Given the description of an element on the screen output the (x, y) to click on. 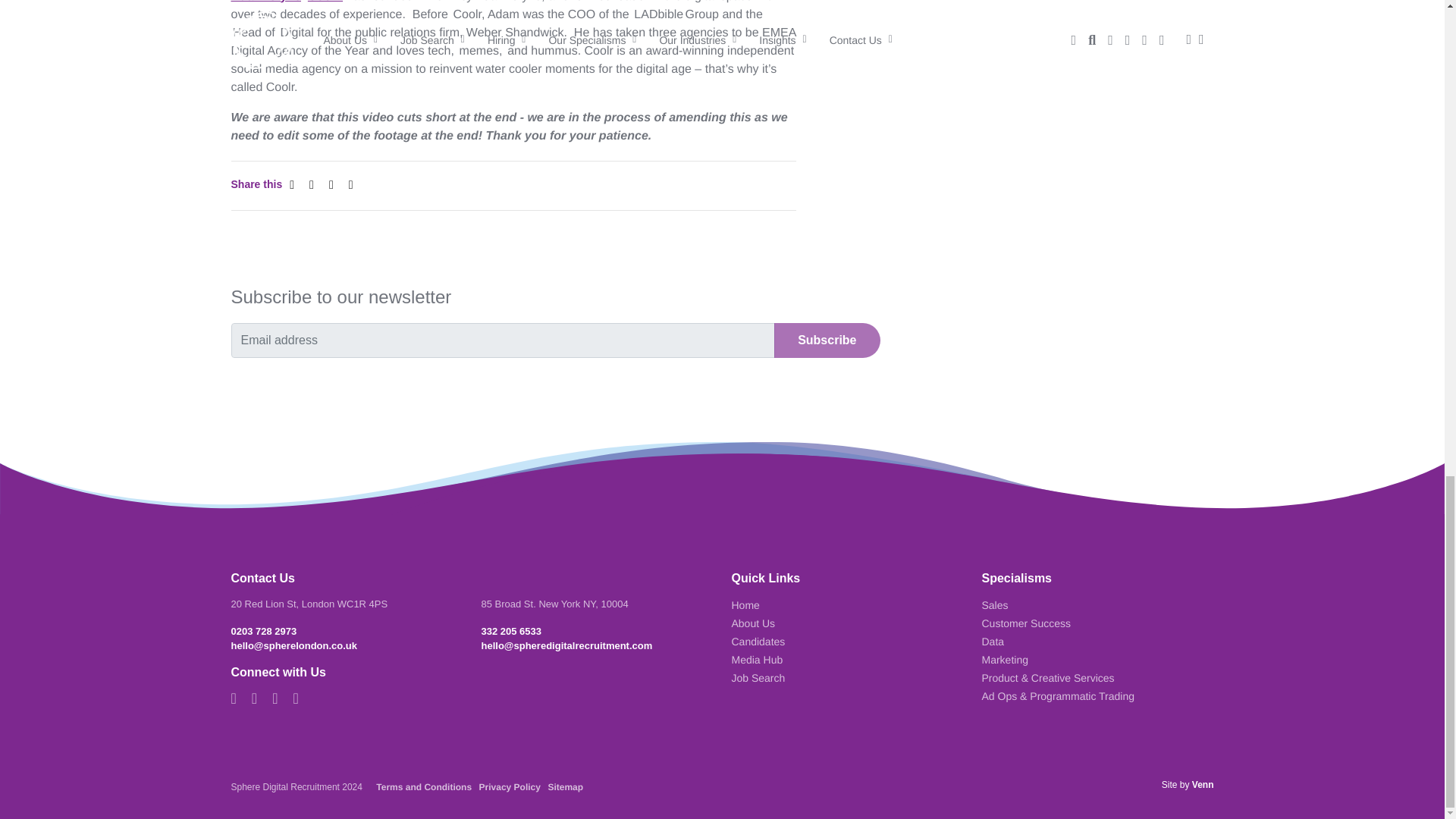
Subscribe (826, 339)
